Given the description of an element on the screen output the (x, y) to click on. 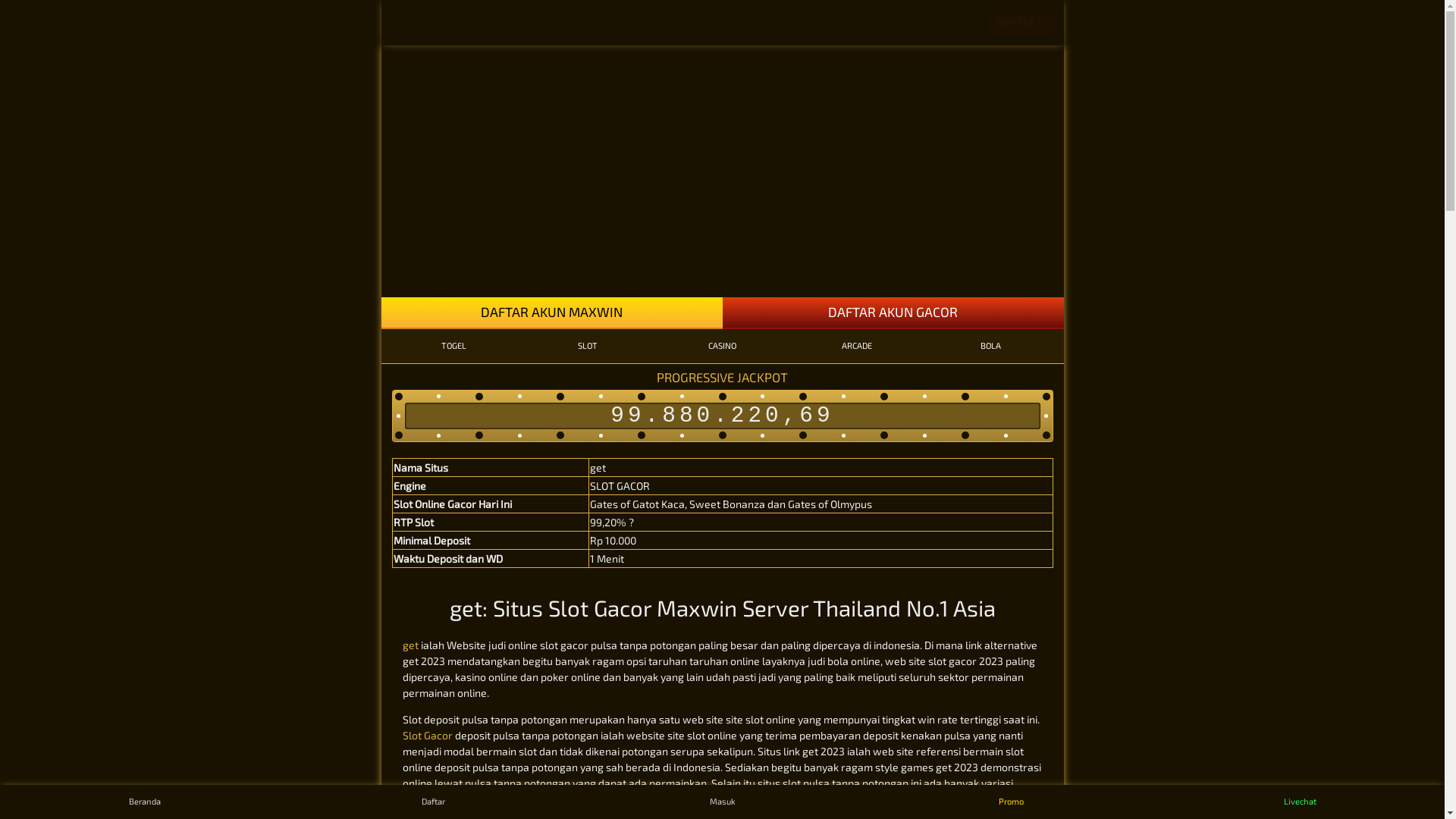
CASINO Element type: text (722, 345)
SLOT Element type: text (587, 345)
Promo Element type: text (1010, 801)
Beranda Element type: text (144, 801)
DAFTAR !! Element type: text (1020, 22)
DAFTAR AKUN MAXWIN Element type: text (550, 313)
DAFTAR AKUN GACOR Element type: text (892, 313)
Daftar Element type: text (432, 801)
get Element type: text (409, 644)
TOGEL Element type: text (453, 345)
Masuk Element type: text (721, 801)
BOLA Element type: text (990, 345)
Livechat Element type: text (1299, 801)
Slot Gacor Element type: text (426, 734)
ARCADE Element type: text (856, 345)
